Given the description of an element on the screen output the (x, y) to click on. 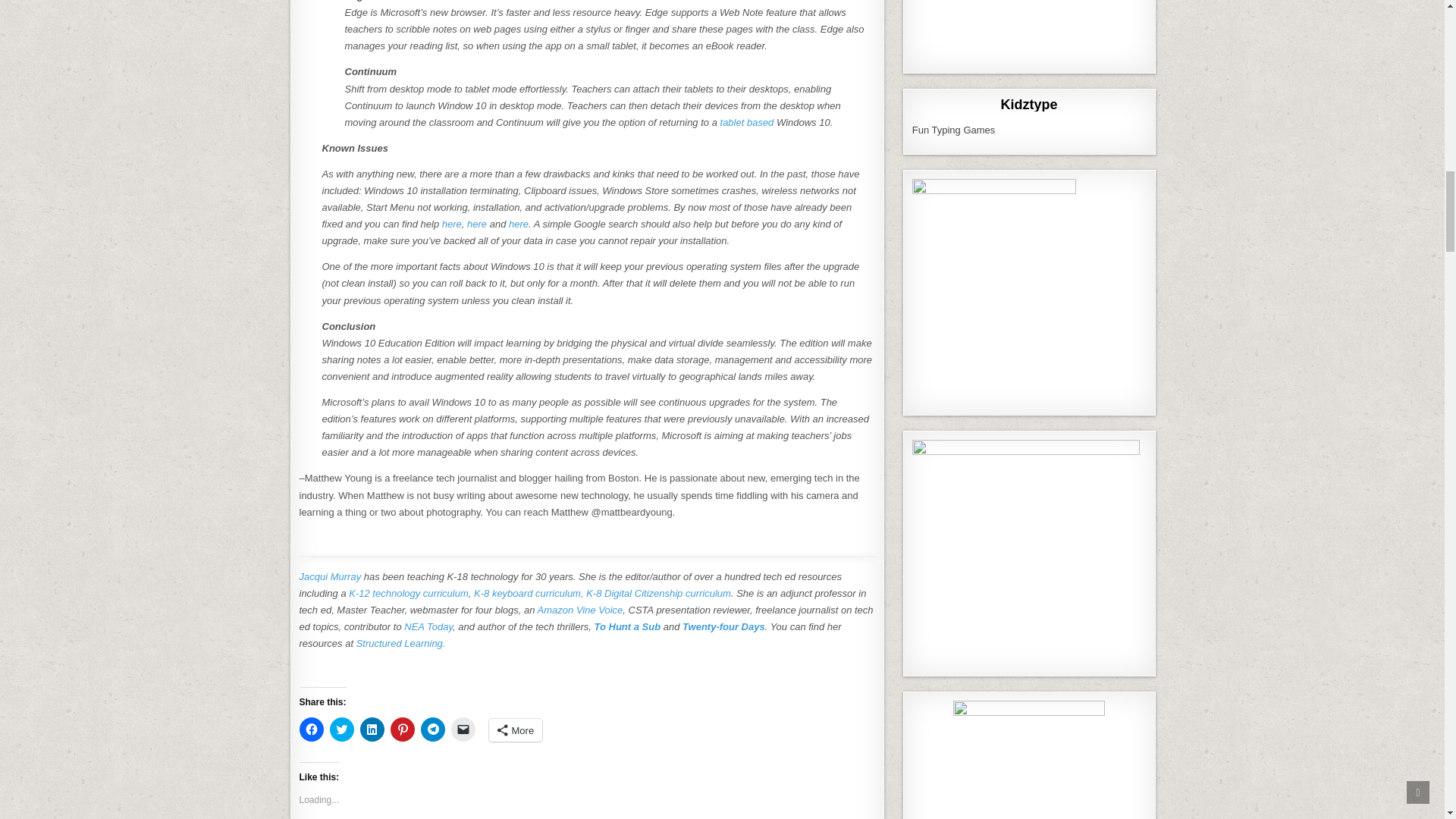
Click to share on Telegram (432, 729)
Click to share on Twitter (341, 729)
Click to email a link to a friend (461, 729)
Click to share on LinkedIn (371, 729)
Click to share on Pinterest (401, 729)
Click to share on Facebook (310, 729)
